Given the description of an element on the screen output the (x, y) to click on. 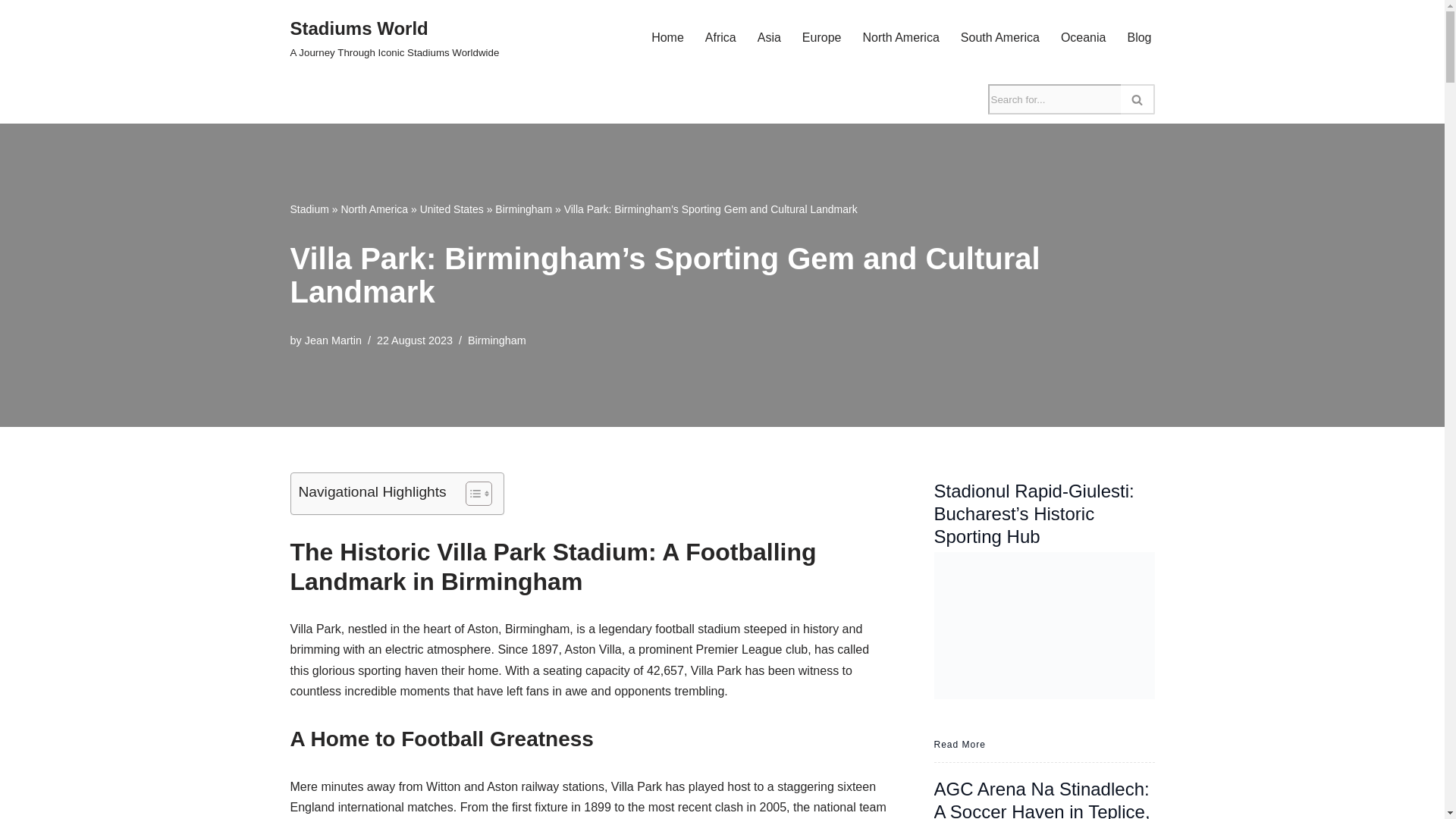
North America (900, 37)
Jean Martin (332, 340)
Africa (720, 37)
Posts by Jean Martin (332, 340)
South America (999, 37)
Oceania (1083, 37)
Europe (821, 37)
United States (394, 37)
Skip to content (451, 209)
